Given the description of an element on the screen output the (x, y) to click on. 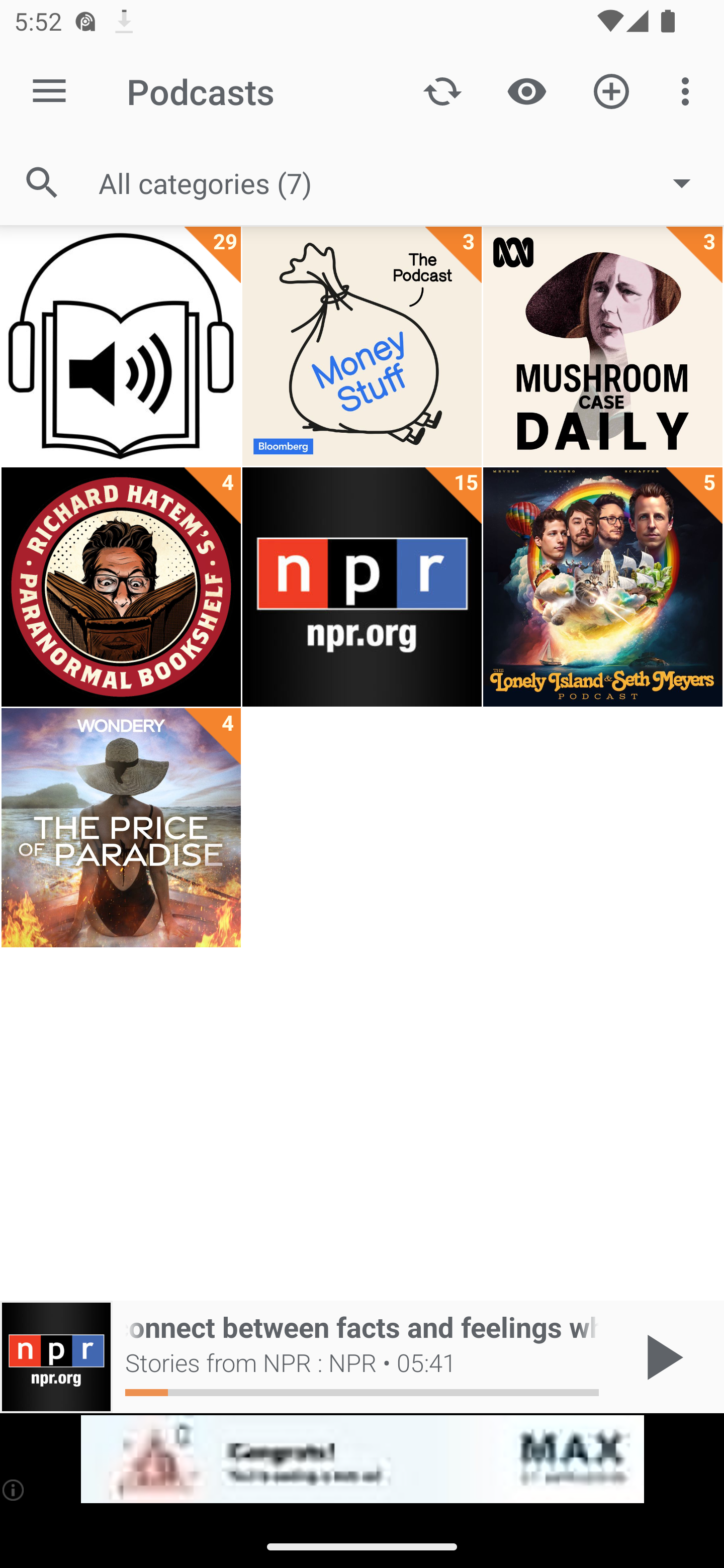
Open navigation sidebar (49, 91)
Update (442, 90)
Show / Hide played content (526, 90)
Add new Podcast (611, 90)
More options (688, 90)
Search (42, 183)
All categories (7) (404, 182)
Audiobooks 29 (121, 346)
Money Stuff: The Podcast 3 (361, 346)
Mushroom Case Daily 3 (602, 346)
Richard Hatem's Paranormal Bookshelf 4 (121, 587)
Stories from NPR : NPR 15 (361, 587)
The Lonely Island and Seth Meyers Podcast 5 (602, 587)
The Price of Paradise 4 (121, 827)
Play / Pause (660, 1356)
app-monetization (362, 1459)
(i) (14, 1489)
